Given the description of an element on the screen output the (x, y) to click on. 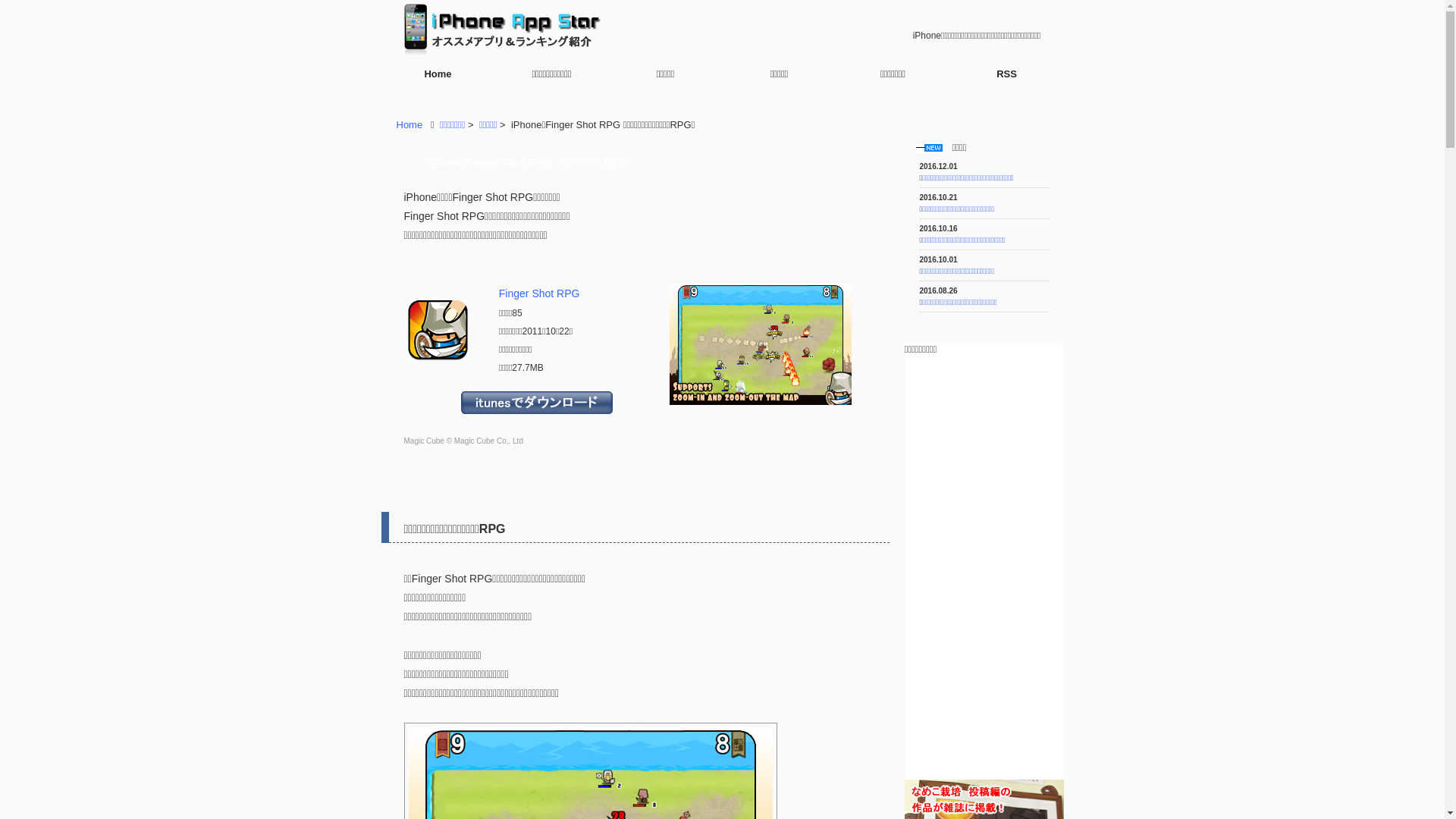
Home Element type: text (437, 74)
Finger Shot RPG Element type: text (539, 293)
RSS Element type: text (1006, 74)
Home Element type: text (409, 124)
Advertisement Element type: hover (979, 430)
